Given the description of an element on the screen output the (x, y) to click on. 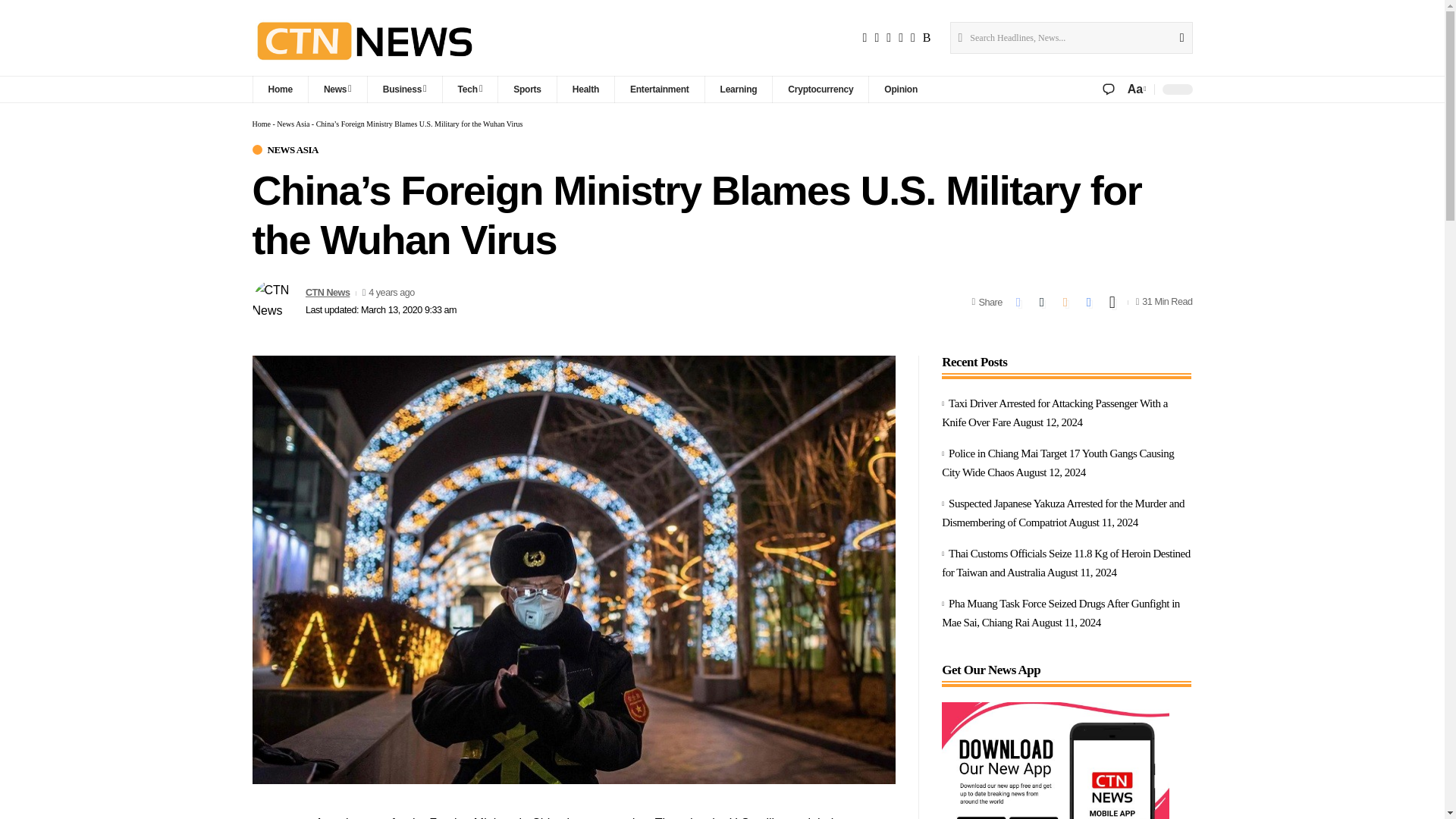
Sports (526, 89)
Opinion (900, 89)
Entertainment (659, 89)
Advertisement (1055, 760)
News (336, 89)
Cryptocurrency (819, 89)
Home (279, 89)
Business (404, 89)
Learning (738, 89)
Health (585, 89)
